Given the description of an element on the screen output the (x, y) to click on. 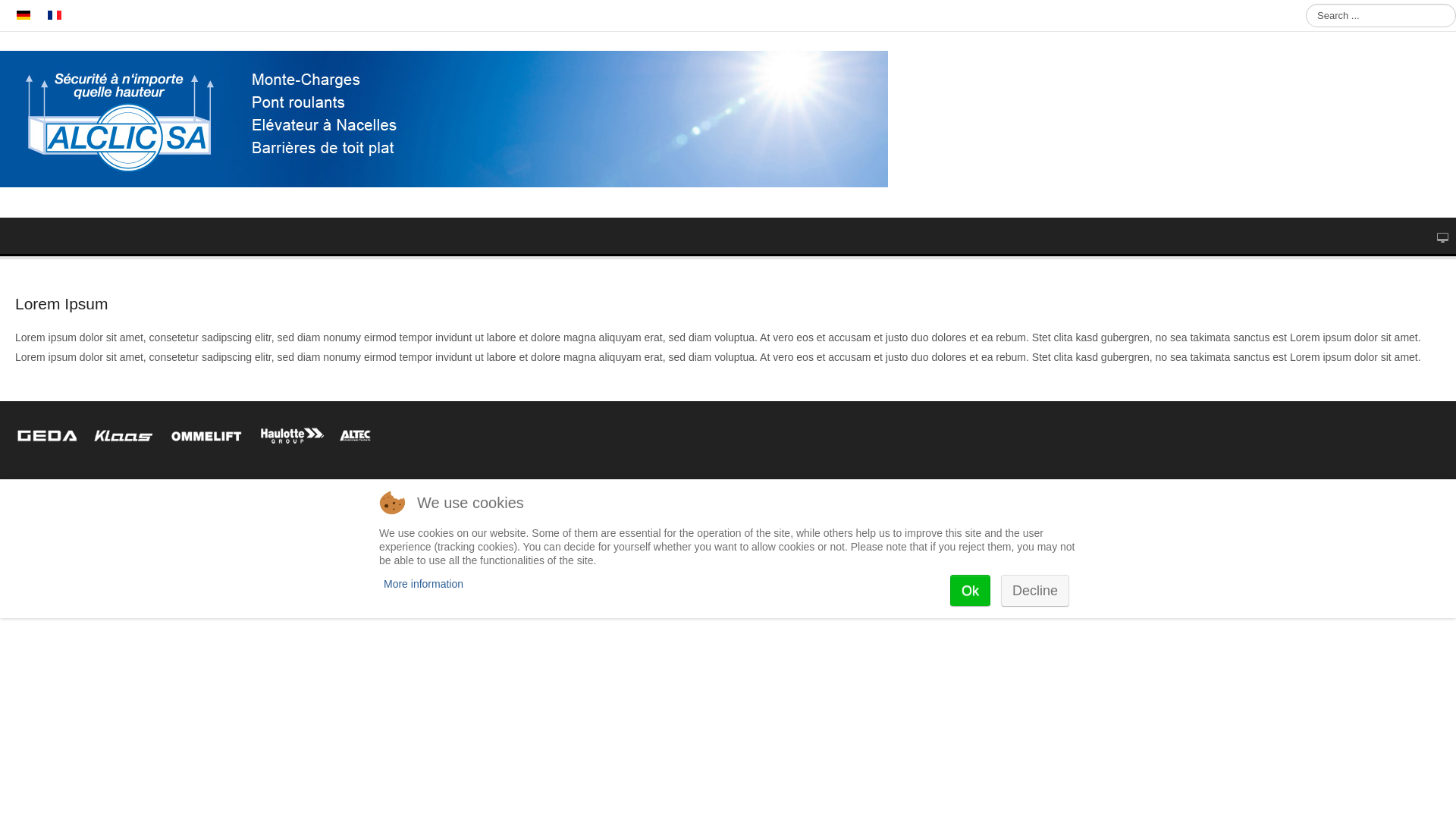
More information Element type: text (423, 583)
Ok Element type: text (970, 590)
Deutsch Element type: hover (23, 14)
Decline Element type: text (1035, 590)
. Element type: hover (54, 14)
